Given the description of an element on the screen output the (x, y) to click on. 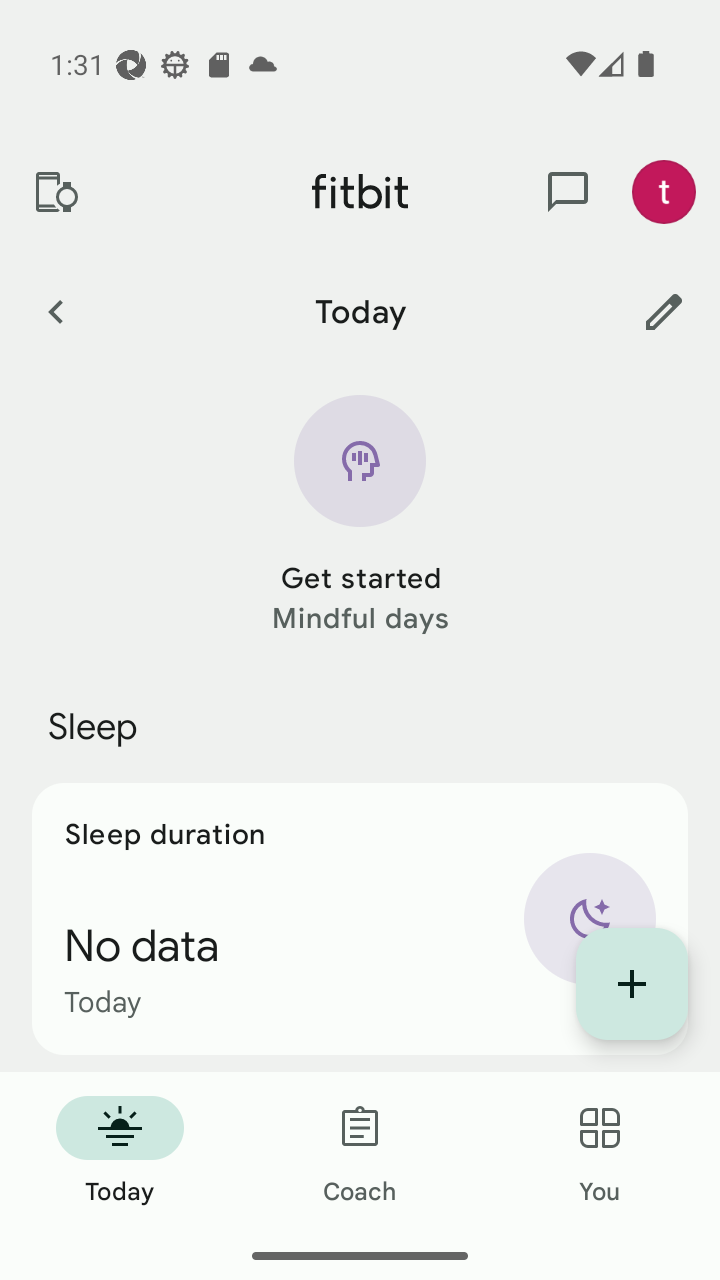
Devices and apps (55, 191)
messages and notifications (567, 191)
Previous Day (55, 311)
Customize (664, 311)
Mindfulness icon Get started Mindful days (360, 516)
Sleep duration No data Today Sleep static arc (359, 918)
Display list of quick log entries (632, 983)
Coach (359, 1151)
You (600, 1151)
